Given the description of an element on the screen output the (x, y) to click on. 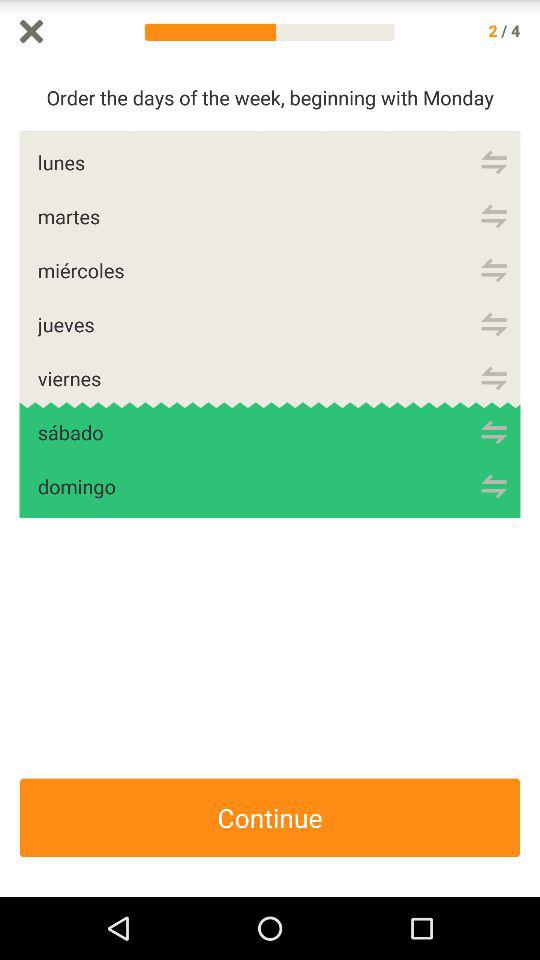
order list (494, 378)
